Given the description of an element on the screen output the (x, y) to click on. 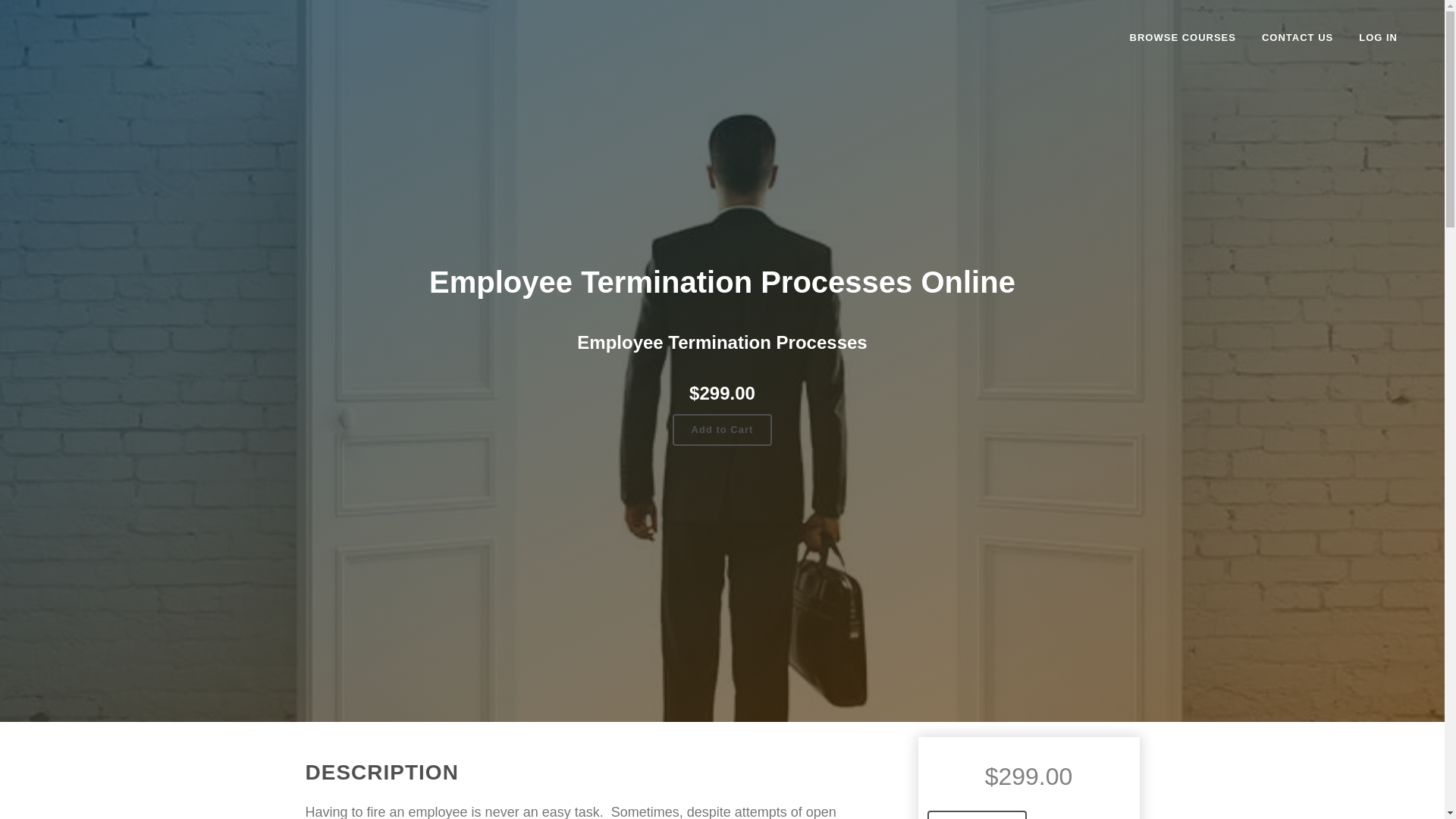
CONTACT US (1297, 38)
courses-top-menu (1182, 38)
BROWSE COURSES (1182, 38)
